Given the description of an element on the screen output the (x, y) to click on. 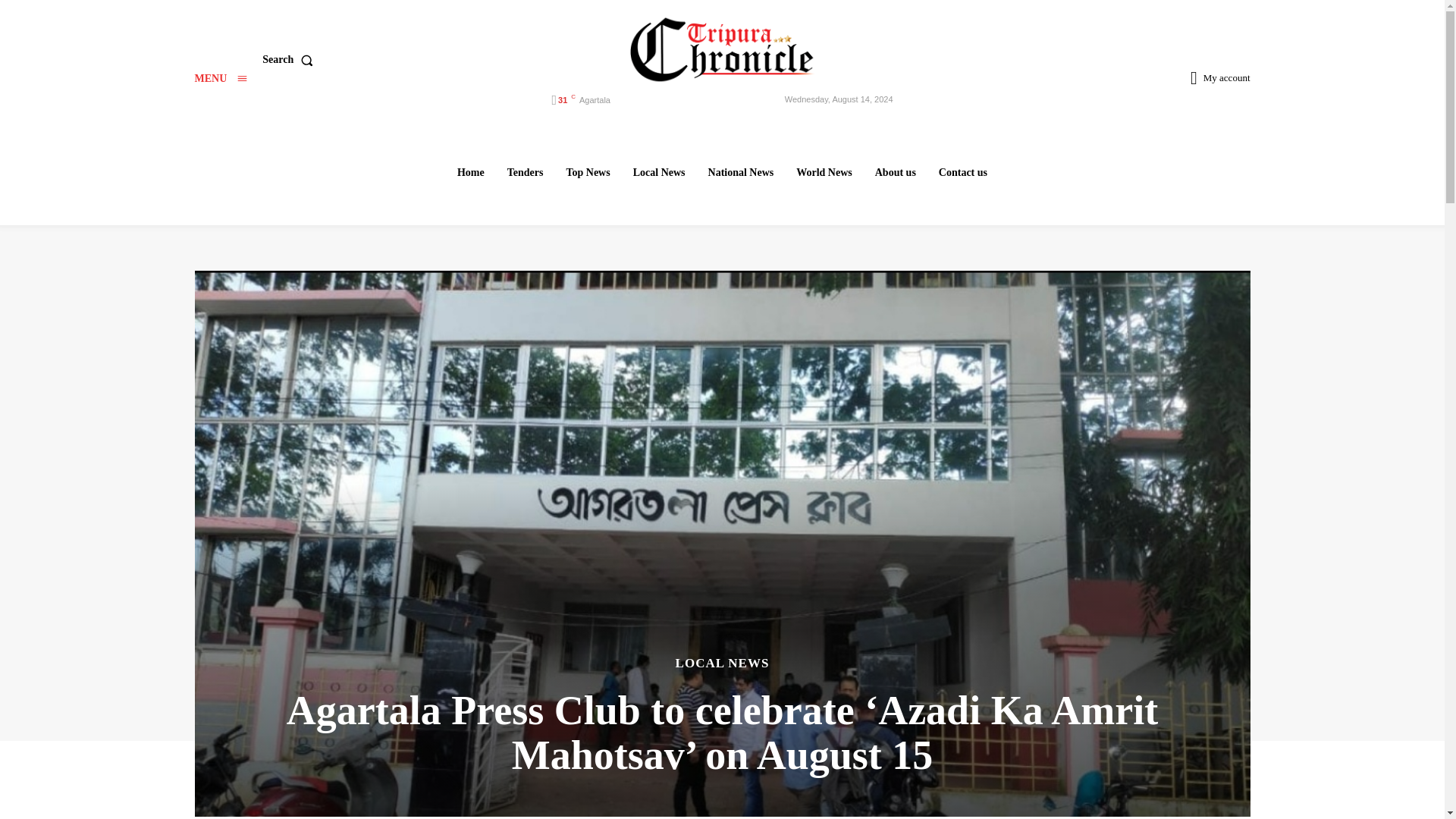
Local News (659, 172)
World News (824, 172)
Menu (220, 78)
Home (470, 172)
National News (740, 172)
Top News (587, 172)
MENU (220, 78)
Search (290, 60)
Tenders (525, 172)
